Given the description of an element on the screen output the (x, y) to click on. 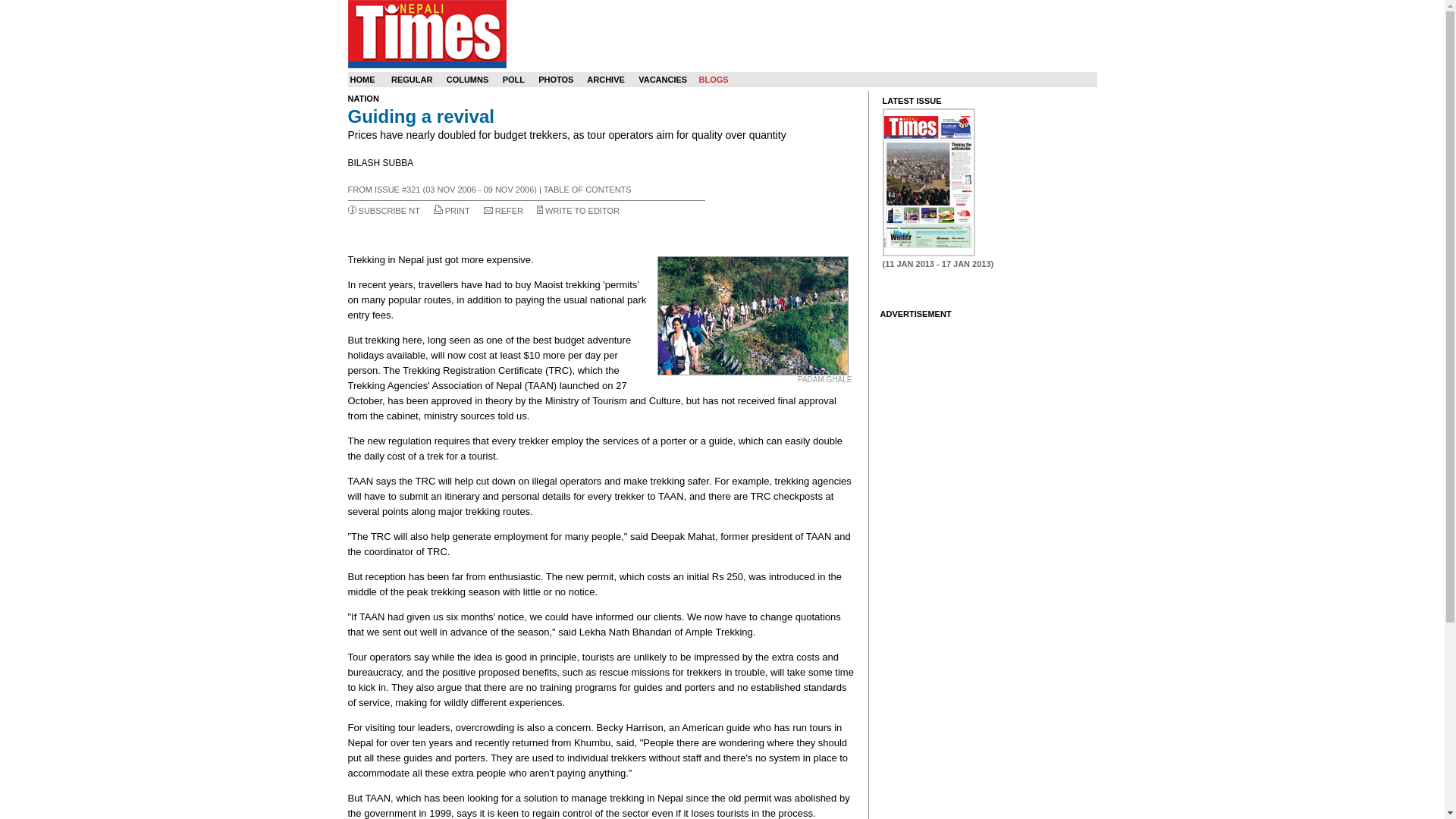
POLL (513, 79)
WRITE TO EDITOR (582, 210)
Nepali Times (426, 33)
PRINT (458, 210)
ARCHIVE (605, 79)
BLOGS (713, 79)
VACANCIES (663, 79)
REFER (508, 210)
COLUMNS (467, 79)
REGULAR (411, 79)
SUBSCRIBE NT (389, 210)
HOME (362, 79)
TABLE OF CONTENTS (587, 189)
PHOTOS (555, 79)
